Given the description of an element on the screen output the (x, y) to click on. 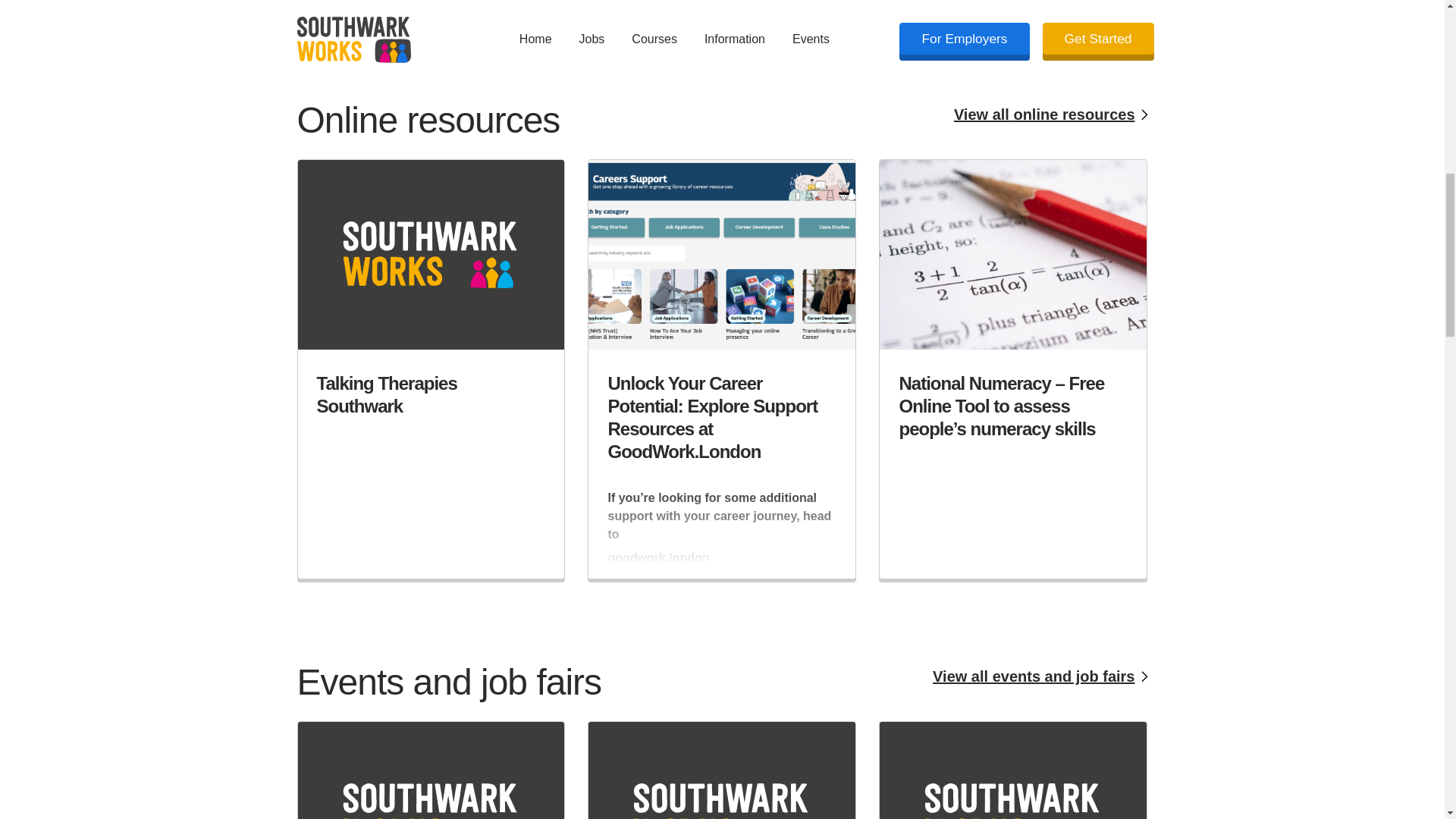
Job Club at Kingswood Library (722, 770)
View all online resources (940, 114)
View all events and job fairs (940, 676)
Job Club at Brandon Library (430, 770)
goodwork.london (722, 560)
